Given the description of an element on the screen output the (x, y) to click on. 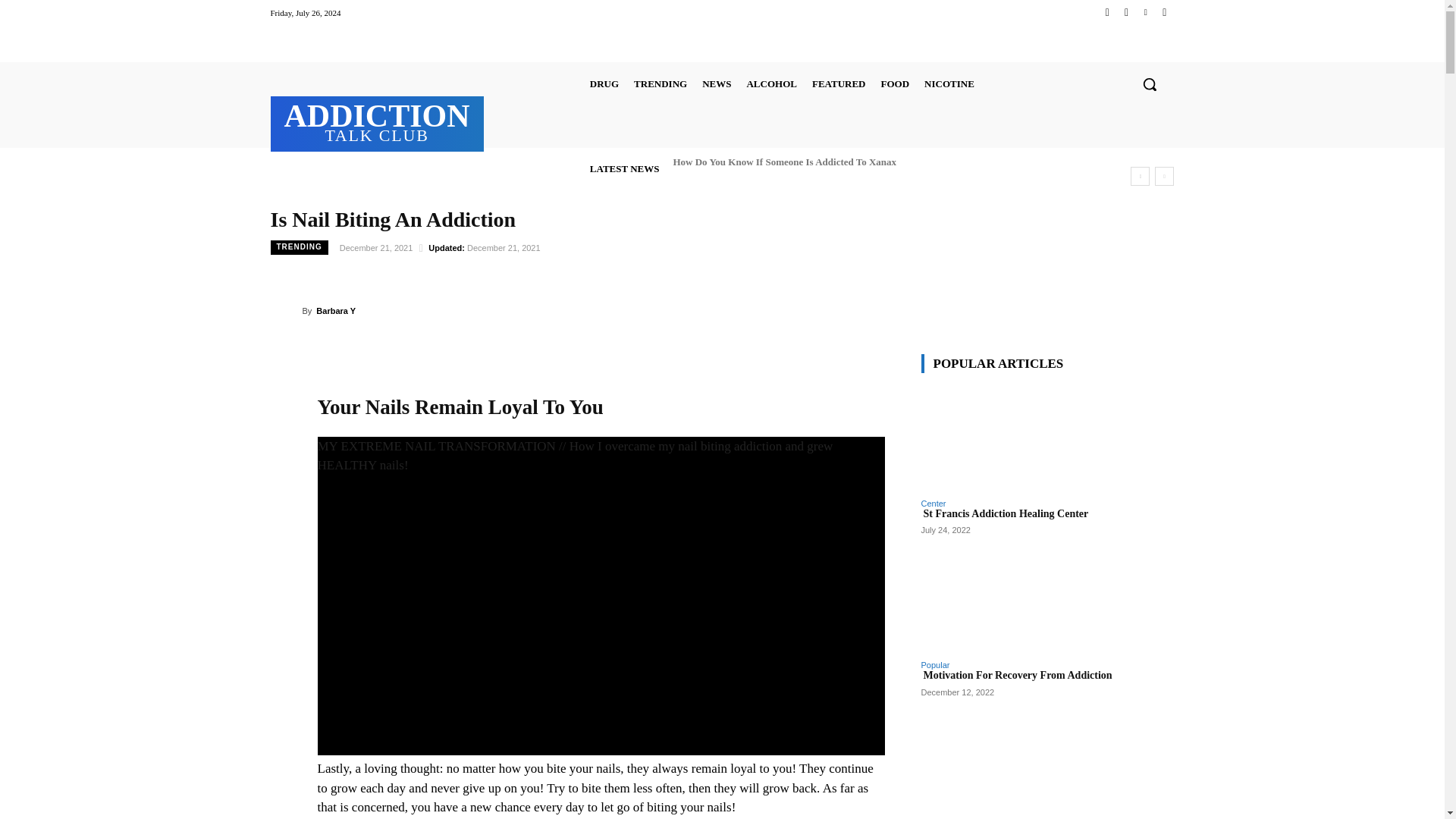
Facebook (1106, 12)
DRUG (603, 83)
TRENDING (660, 83)
